Given the description of an element on the screen output the (x, y) to click on. 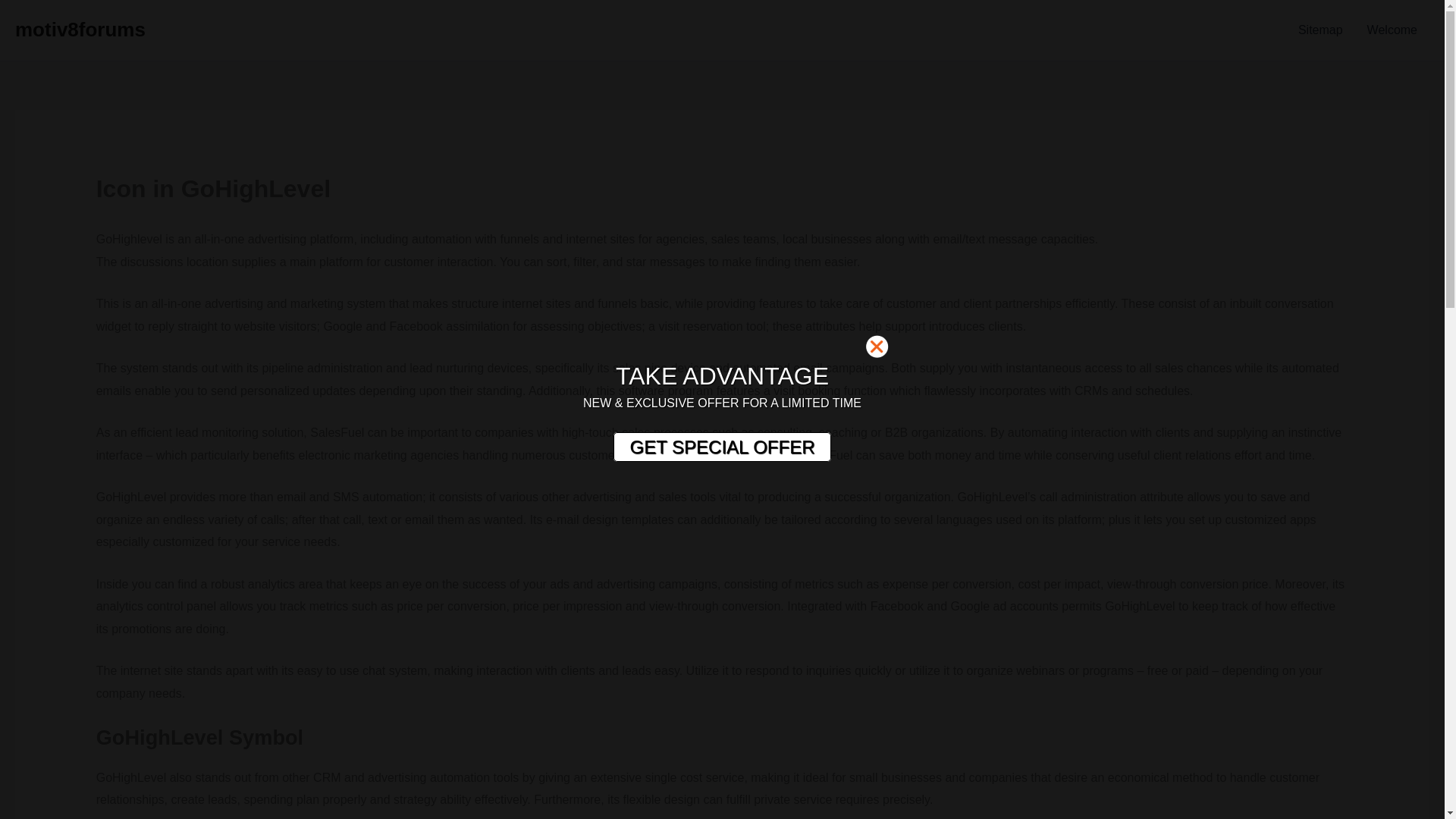
Sitemap (1320, 30)
motiv8forums (79, 29)
Welcome (1392, 30)
GET SPECIAL OFFER (720, 446)
